Given the description of an element on the screen output the (x, y) to click on. 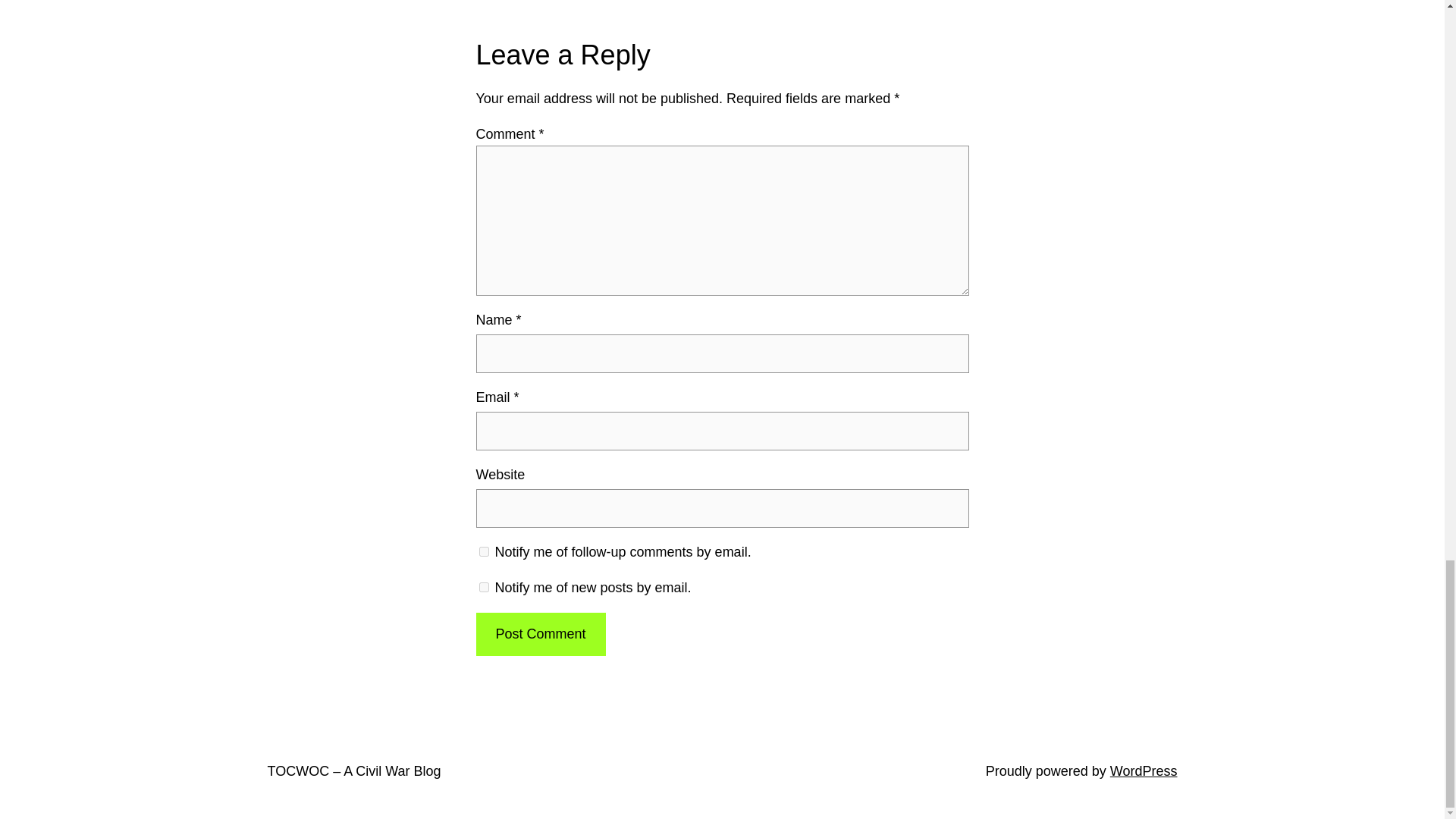
subscribe (484, 587)
Post Comment (540, 634)
WordPress (1143, 770)
Post Comment (540, 634)
subscribe (484, 551)
